Given the description of an element on the screen output the (x, y) to click on. 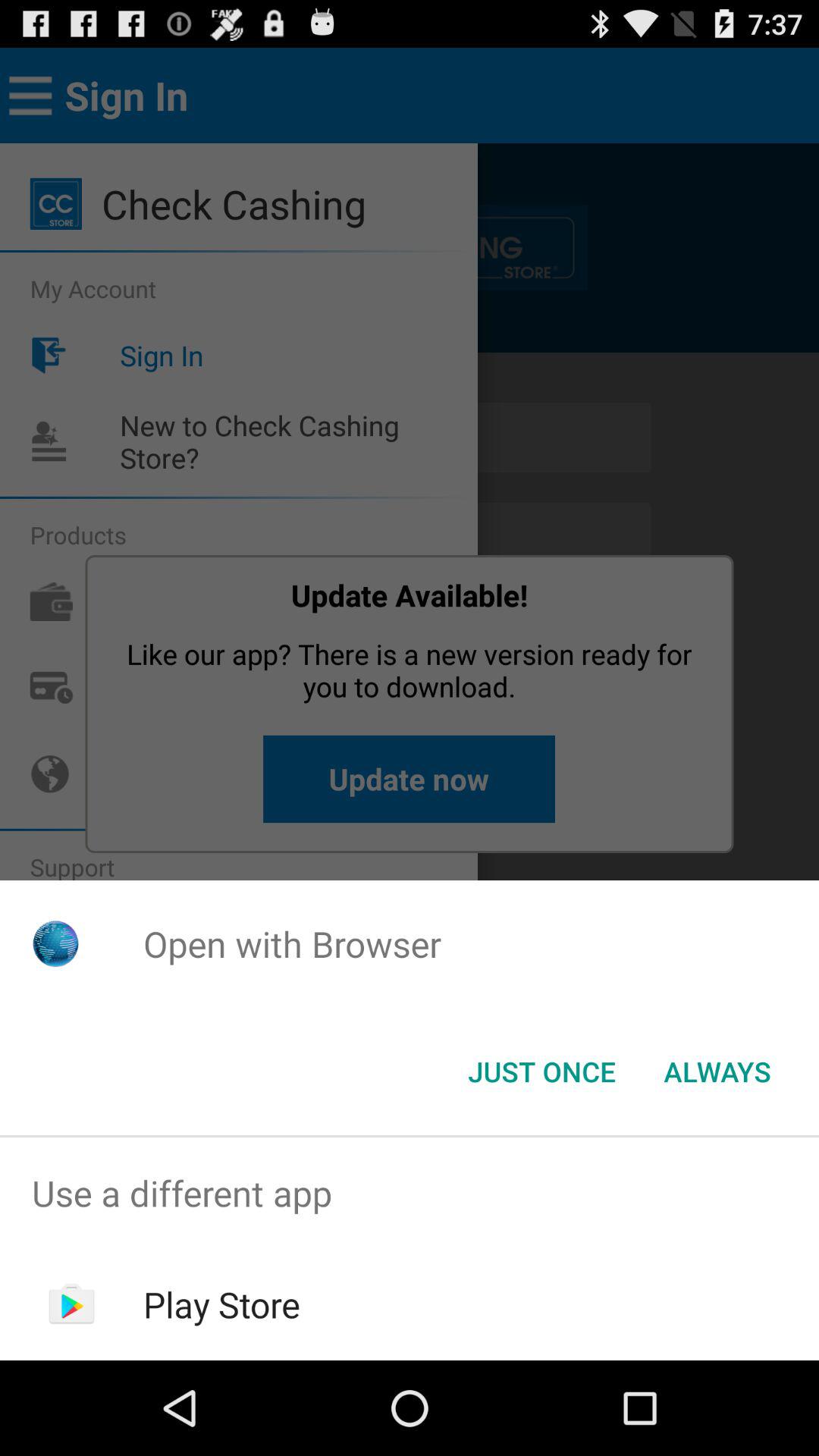
turn off the always item (717, 1071)
